Given the description of an element on the screen output the (x, y) to click on. 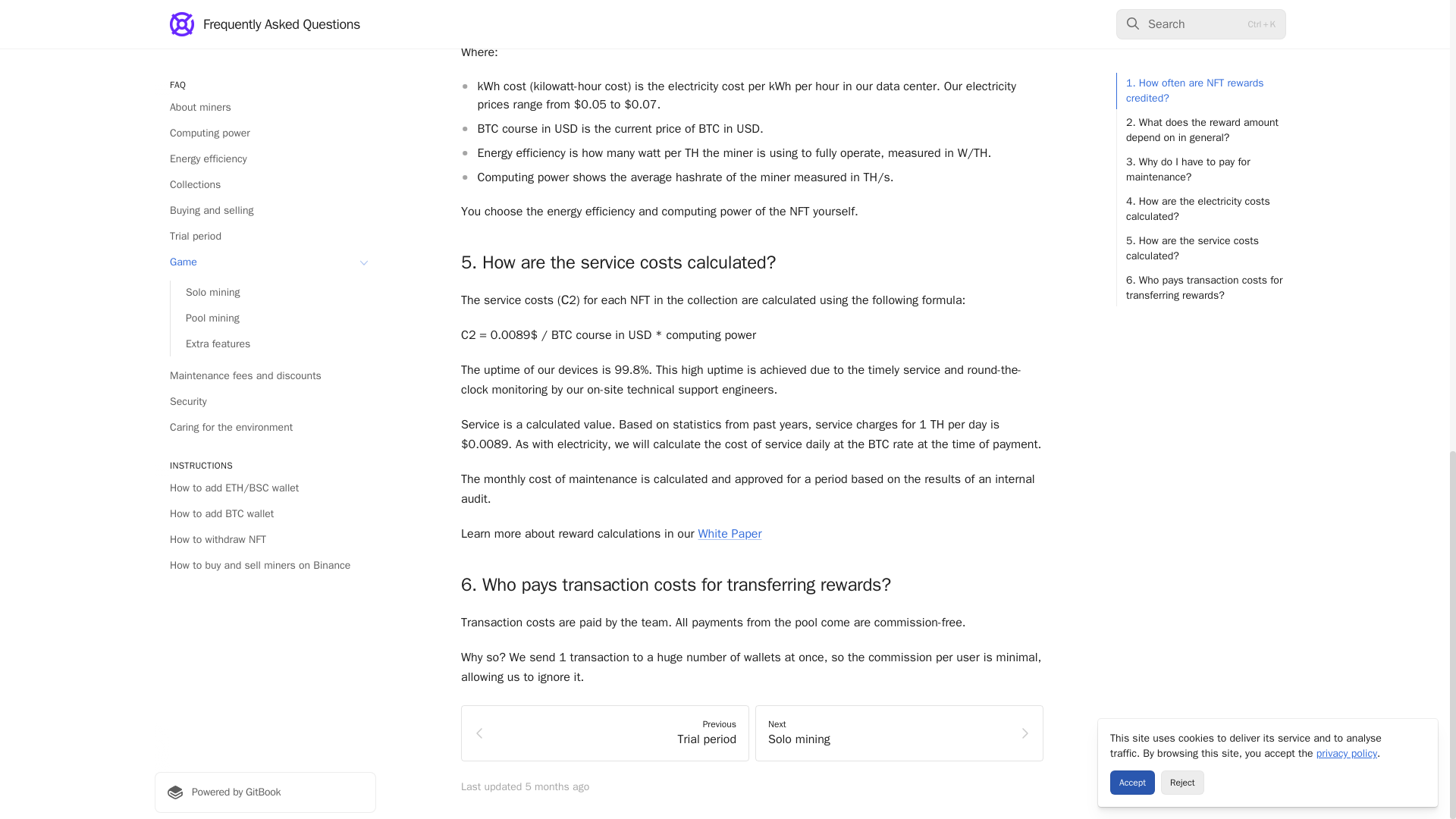
White Paper (729, 533)
